Given the description of an element on the screen output the (x, y) to click on. 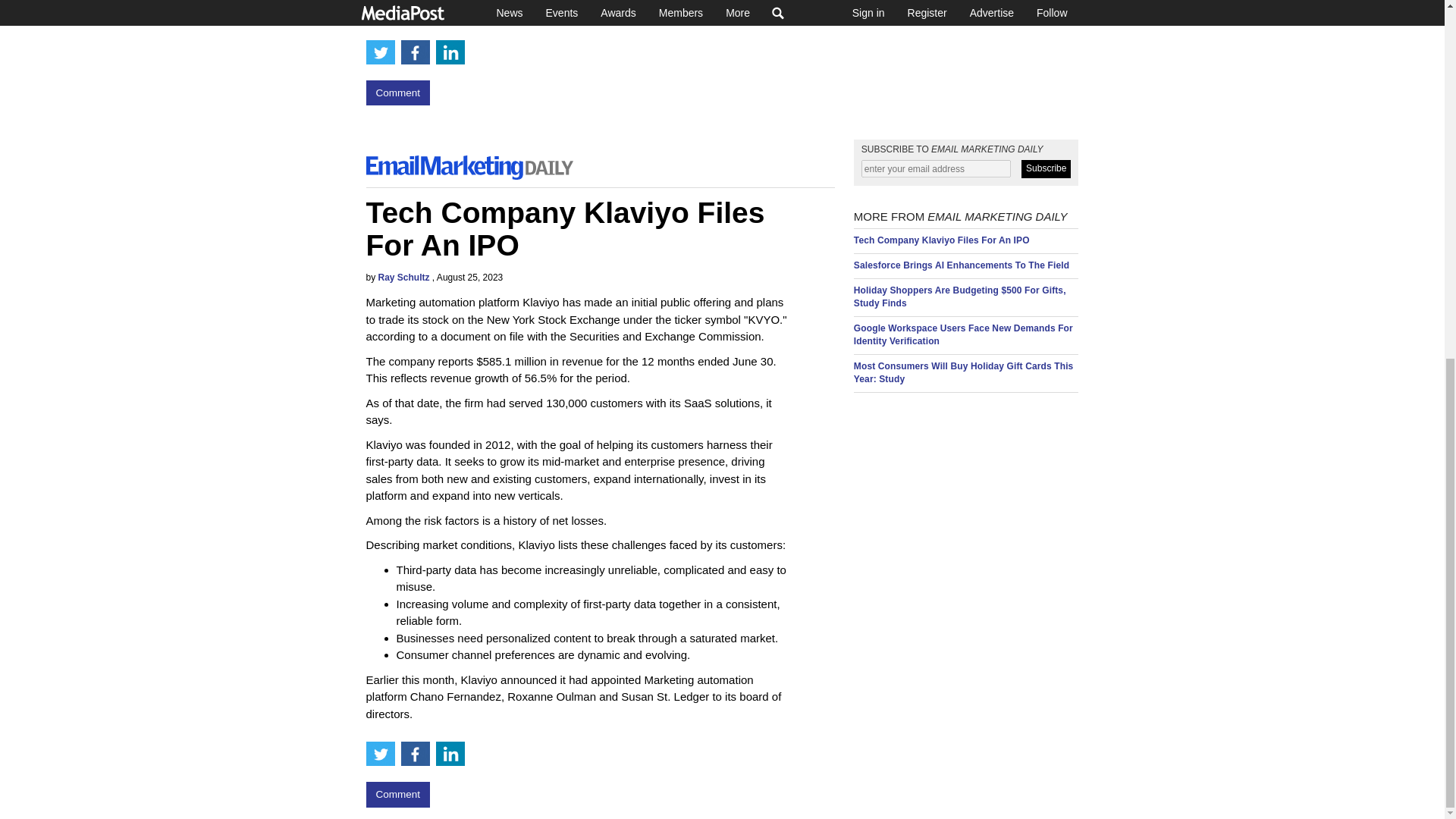
Share on Twitter (379, 52)
Share on Facebook (414, 52)
Share on LinkedIn (449, 52)
Share on Twitter (379, 753)
Share on Facebook (414, 753)
Share on LinkedIn (449, 753)
Subscribe (1046, 168)
